Given the description of an element on the screen output the (x, y) to click on. 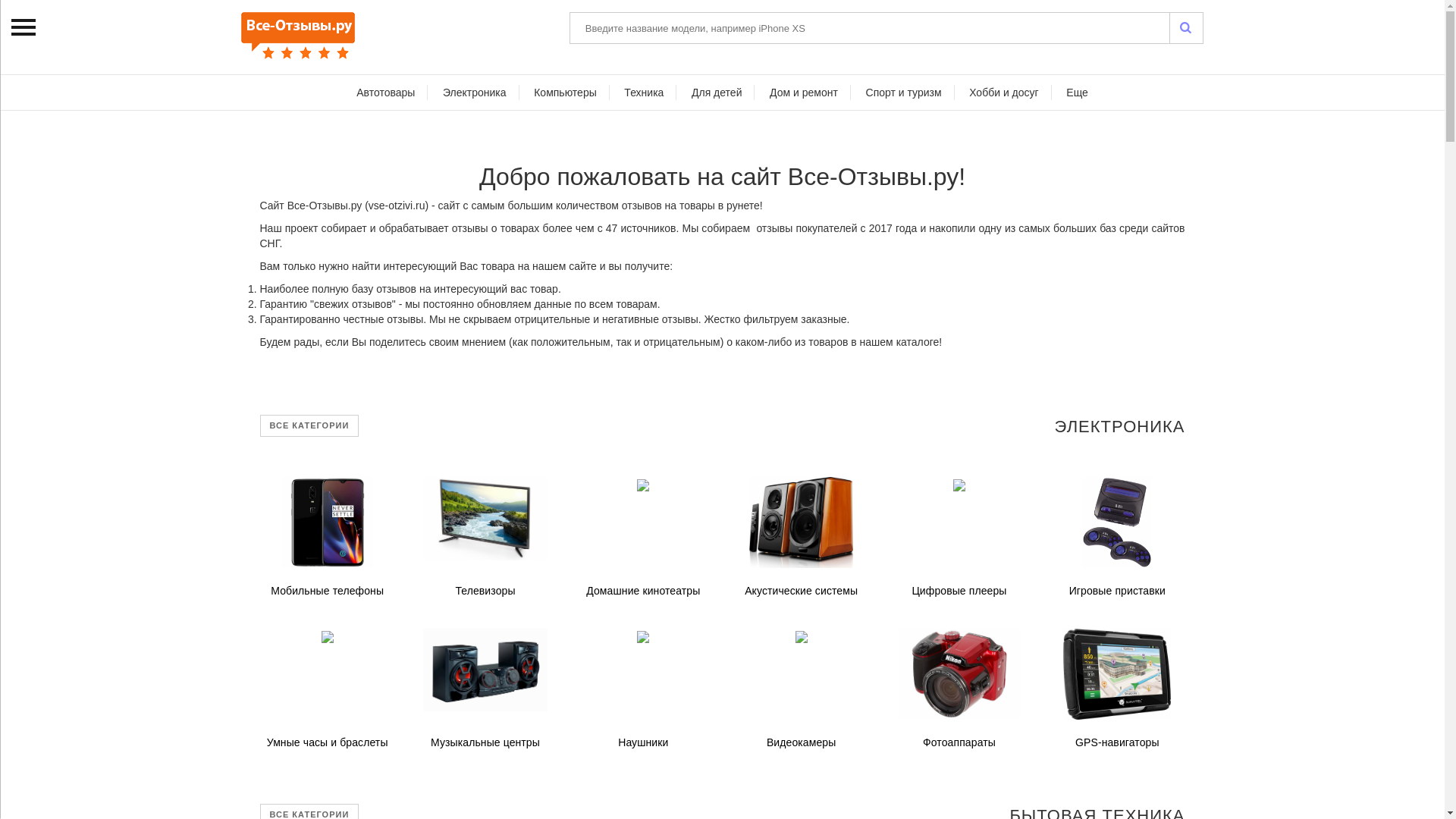
  Element type: text (1186, 27)
Search Element type: hover (1186, 27)
